Given the description of an element on the screen output the (x, y) to click on. 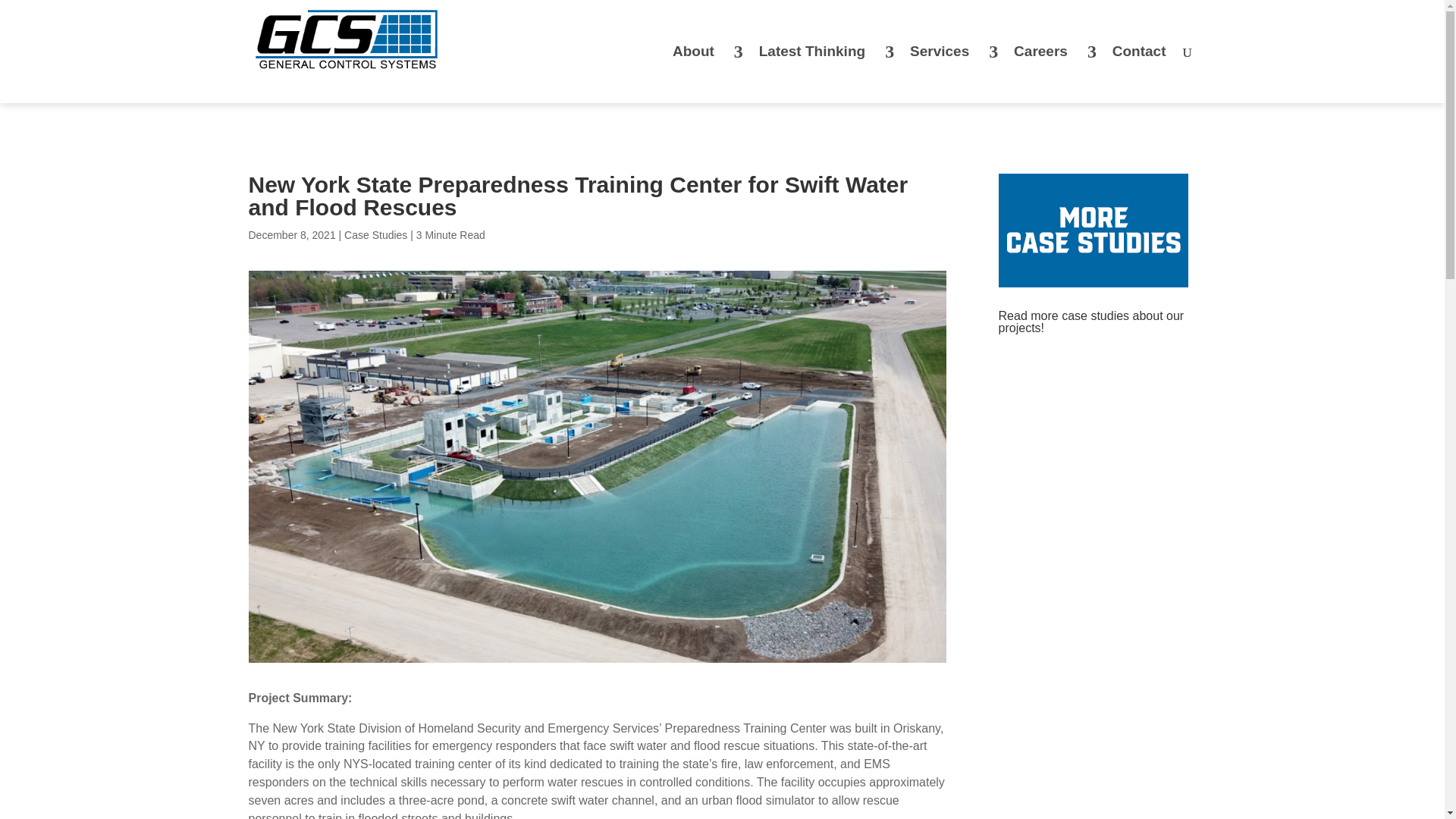
Careers (1048, 74)
About (700, 74)
Services (947, 74)
Contact (1139, 74)
Latest Thinking (819, 74)
